Given the description of an element on the screen output the (x, y) to click on. 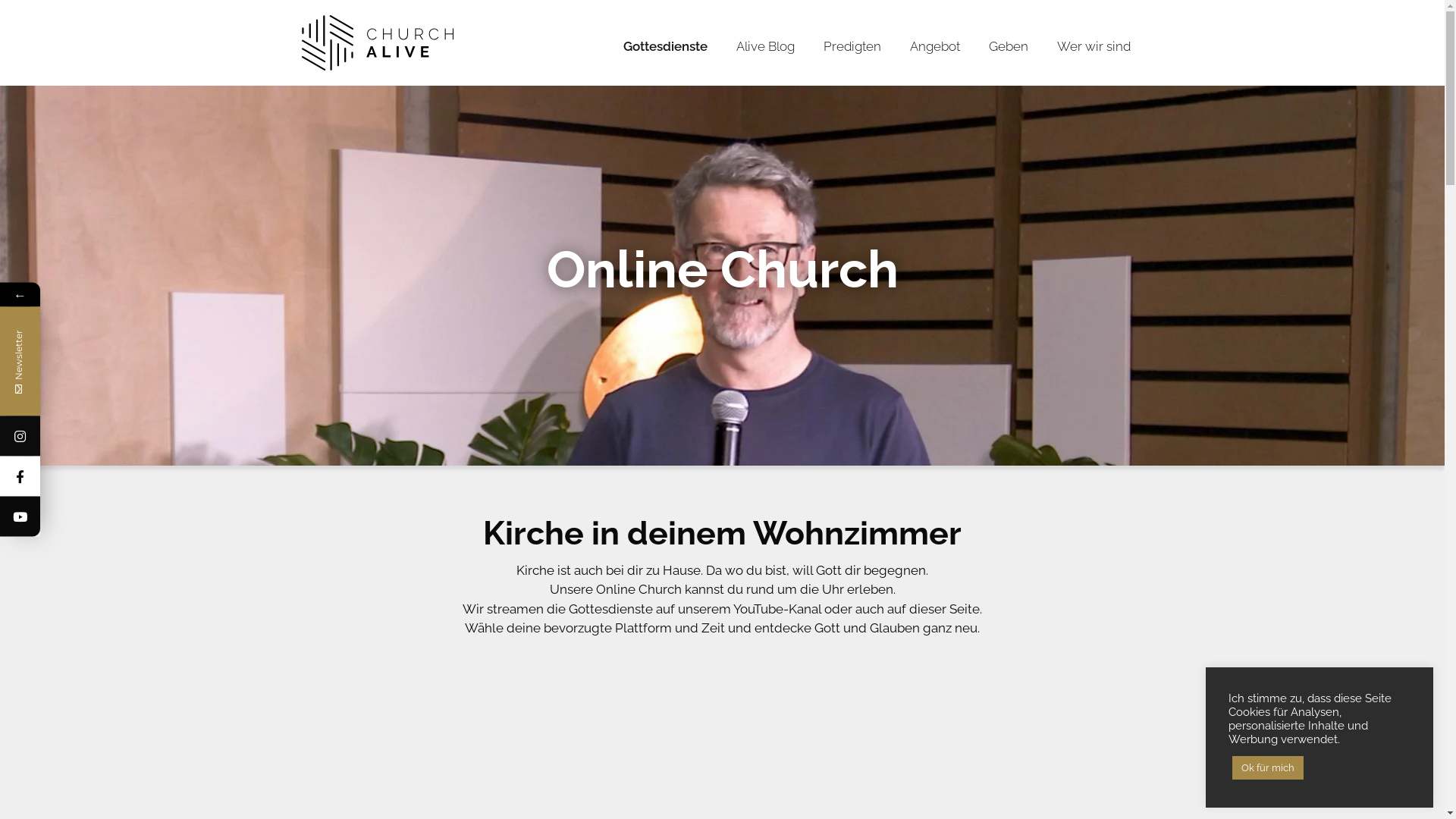
Anmelden Element type: text (196, 527)
Facebook Element type: text (92, 476)
Wer wir sind Element type: text (1093, 46)
YouTube Element type: text (92, 515)
Gottesdienste Element type: text (665, 46)
Predigten Element type: text (852, 46)
Angebot Element type: text (935, 46)
Instagram Element type: text (92, 435)
Alive Blog Element type: text (764, 46)
Geben Element type: text (1008, 46)
